Given the description of an element on the screen output the (x, y) to click on. 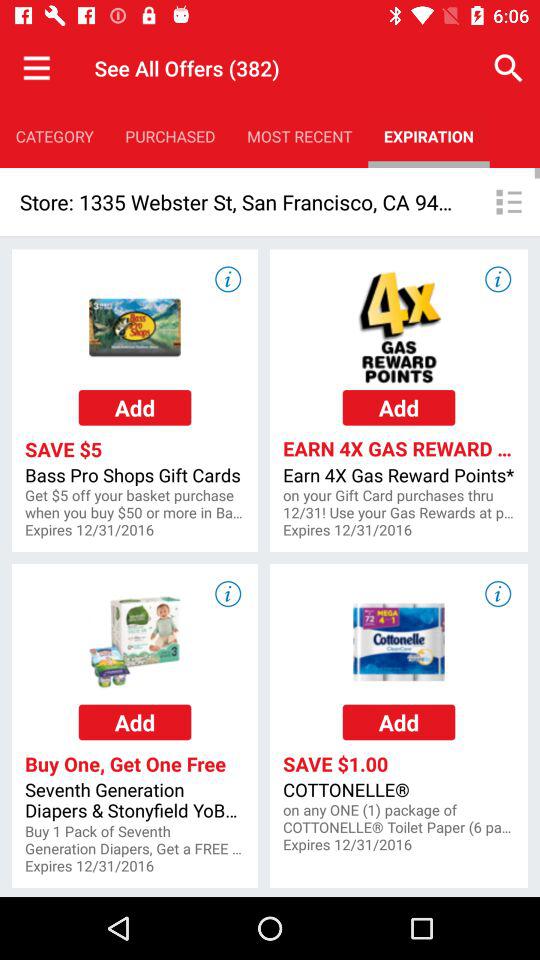
choose the get 5 off (134, 504)
